Given the description of an element on the screen output the (x, y) to click on. 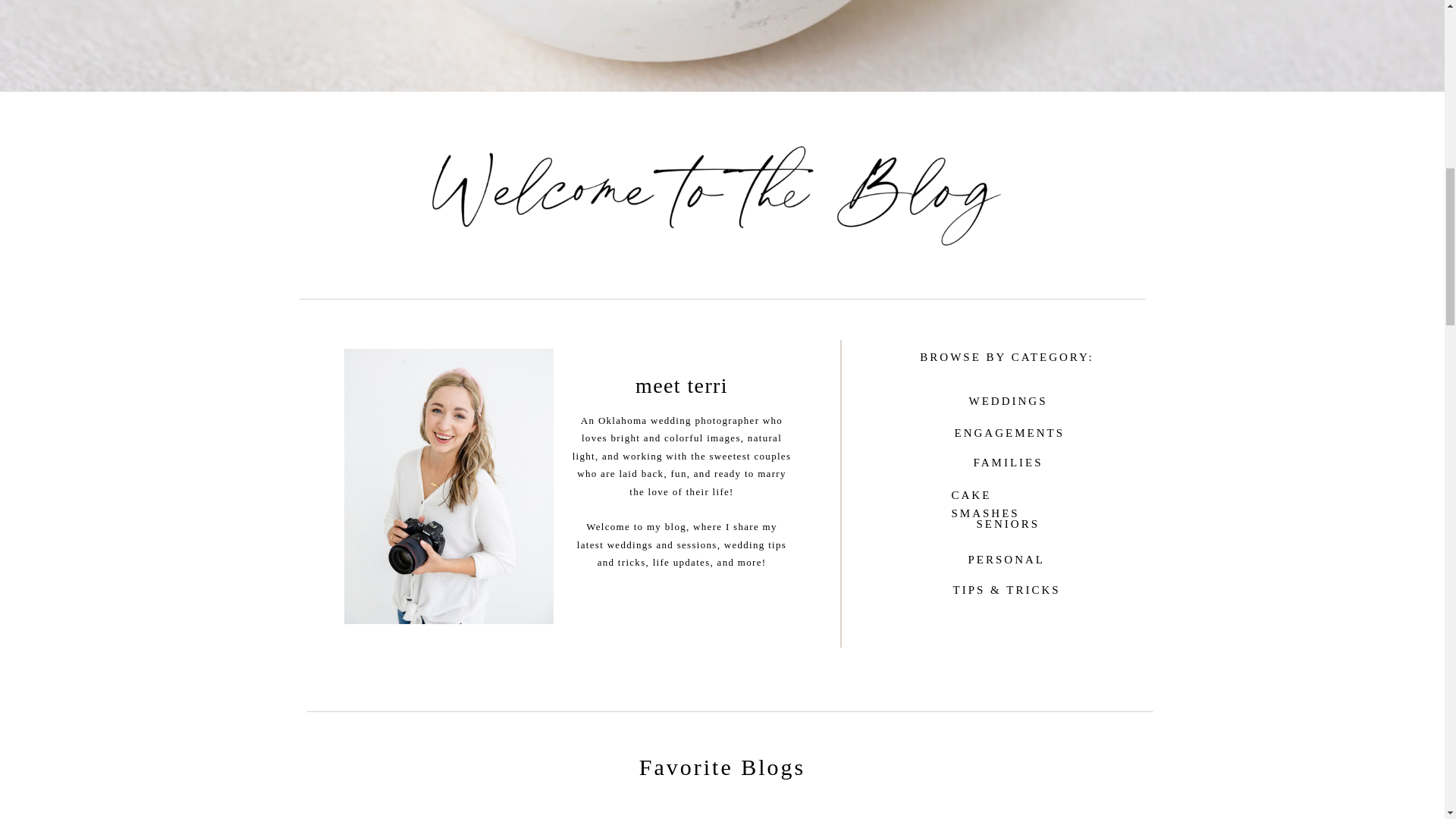
WEDDINGS (1007, 402)
FAMILIES (1008, 462)
ENGAGEMENTS (1006, 430)
PERSONAL (1006, 559)
SENIORS (1007, 524)
CAKE SMASHES (1006, 492)
